Given the description of an element on the screen output the (x, y) to click on. 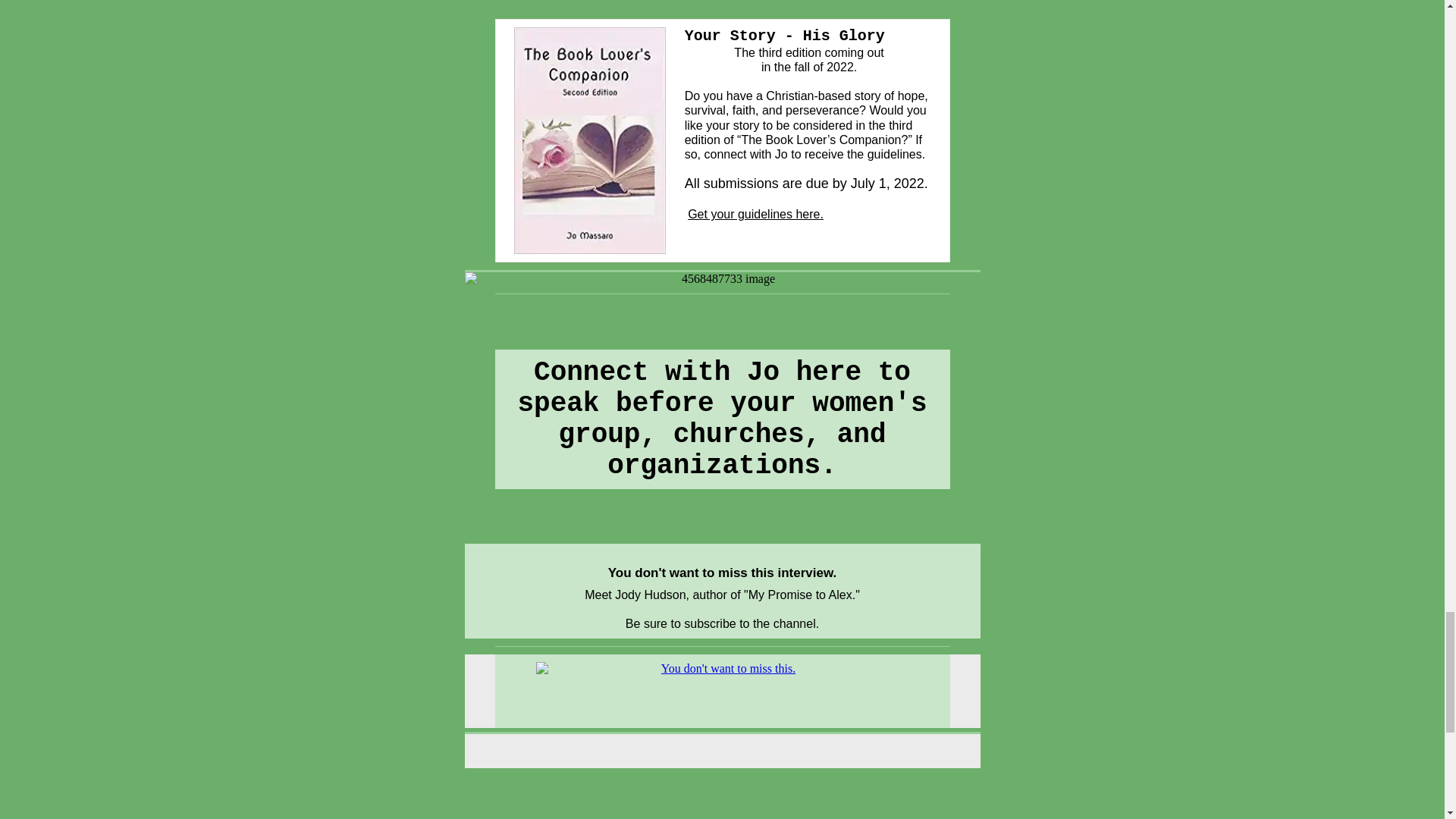
Get your guidelines here. (755, 214)
